Given the description of an element on the screen output the (x, y) to click on. 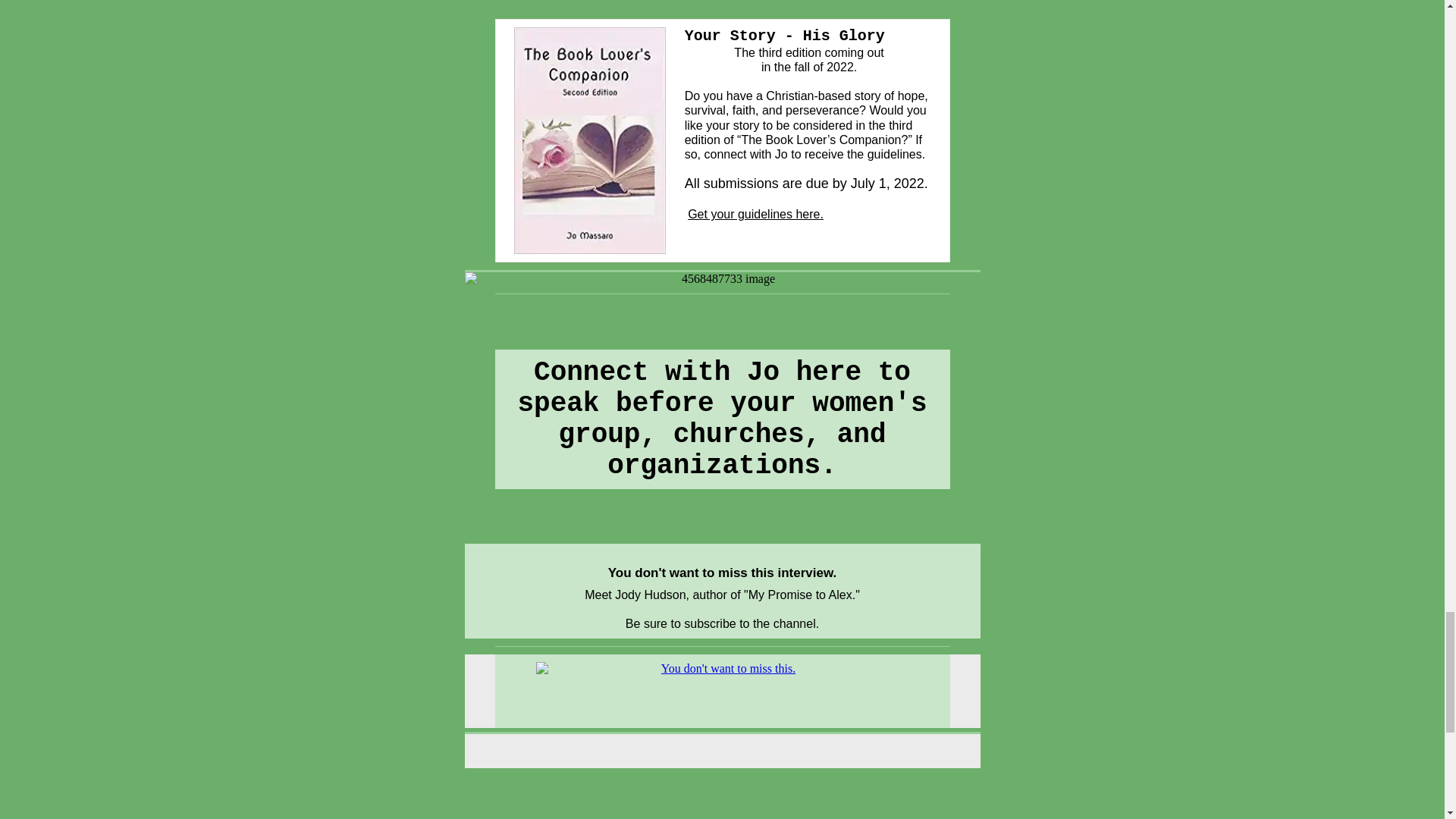
Get your guidelines here. (755, 214)
